Given the description of an element on the screen output the (x, y) to click on. 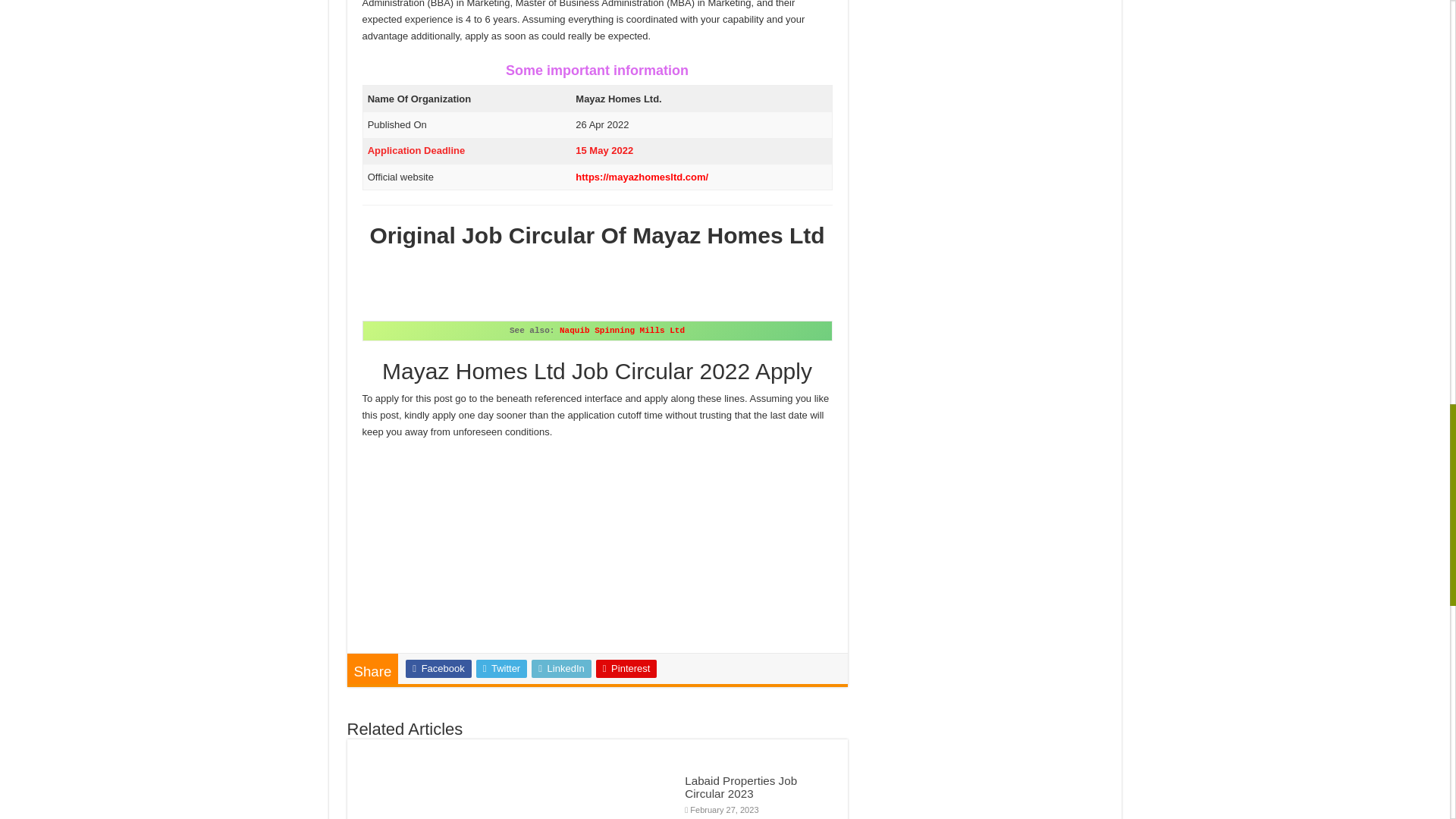
Facebook (438, 669)
Twitter (501, 669)
LinkedIn (561, 669)
Naquib Spinning Mills Ltd (621, 329)
Pinterest (626, 669)
